Given the description of an element on the screen output the (x, y) to click on. 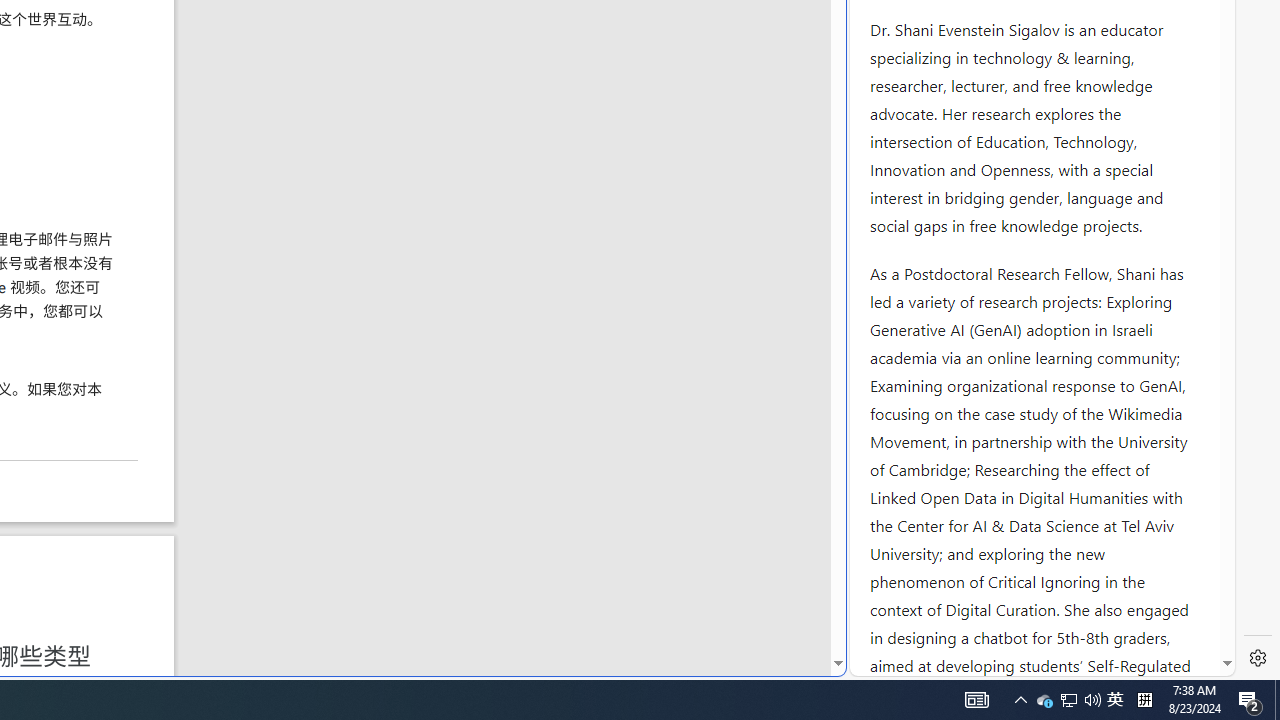
google_privacy_policy_zh-CN.pdf (687, 482)
MSN (687, 223)
Global web icon (888, 663)
Favorites (343, 482)
Actions for this site (1129, 306)
Settings (1258, 658)
